Given the description of an element on the screen output the (x, y) to click on. 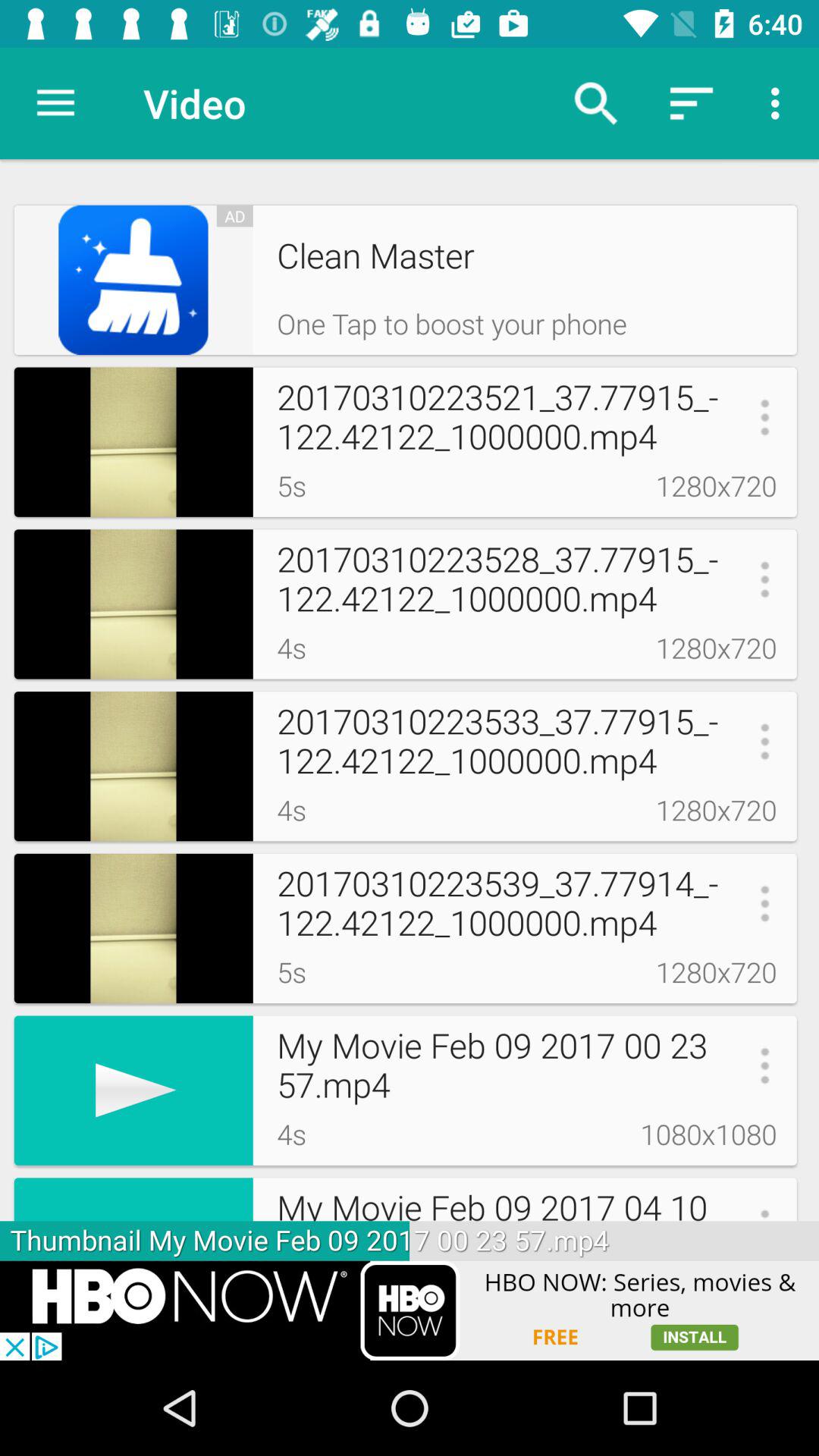
advertisements image (409, 1310)
